Given the description of an element on the screen output the (x, y) to click on. 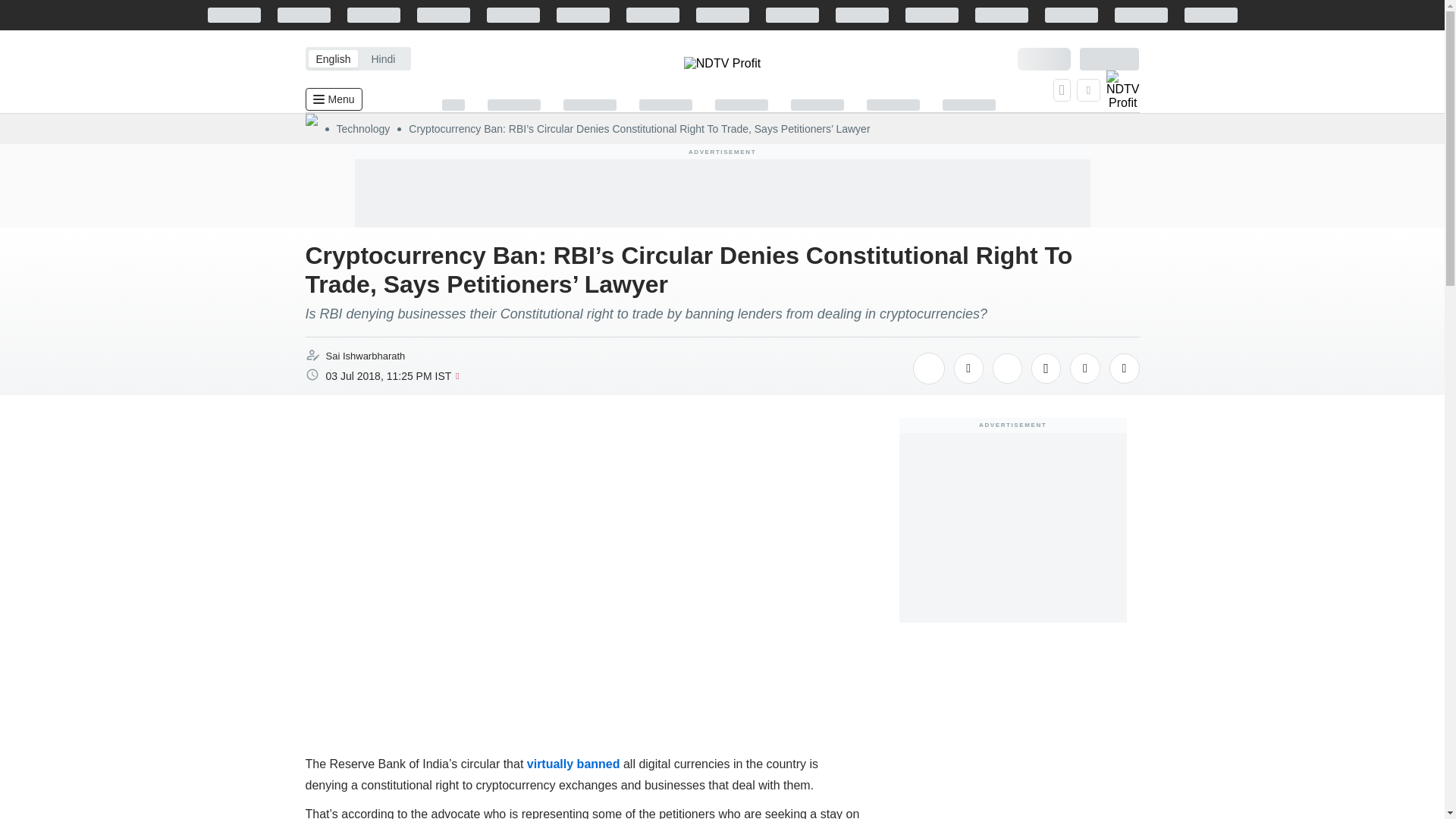
English (332, 58)
Hindi (382, 58)
Menu (332, 98)
Hindi (382, 58)
